Given the description of an element on the screen output the (x, y) to click on. 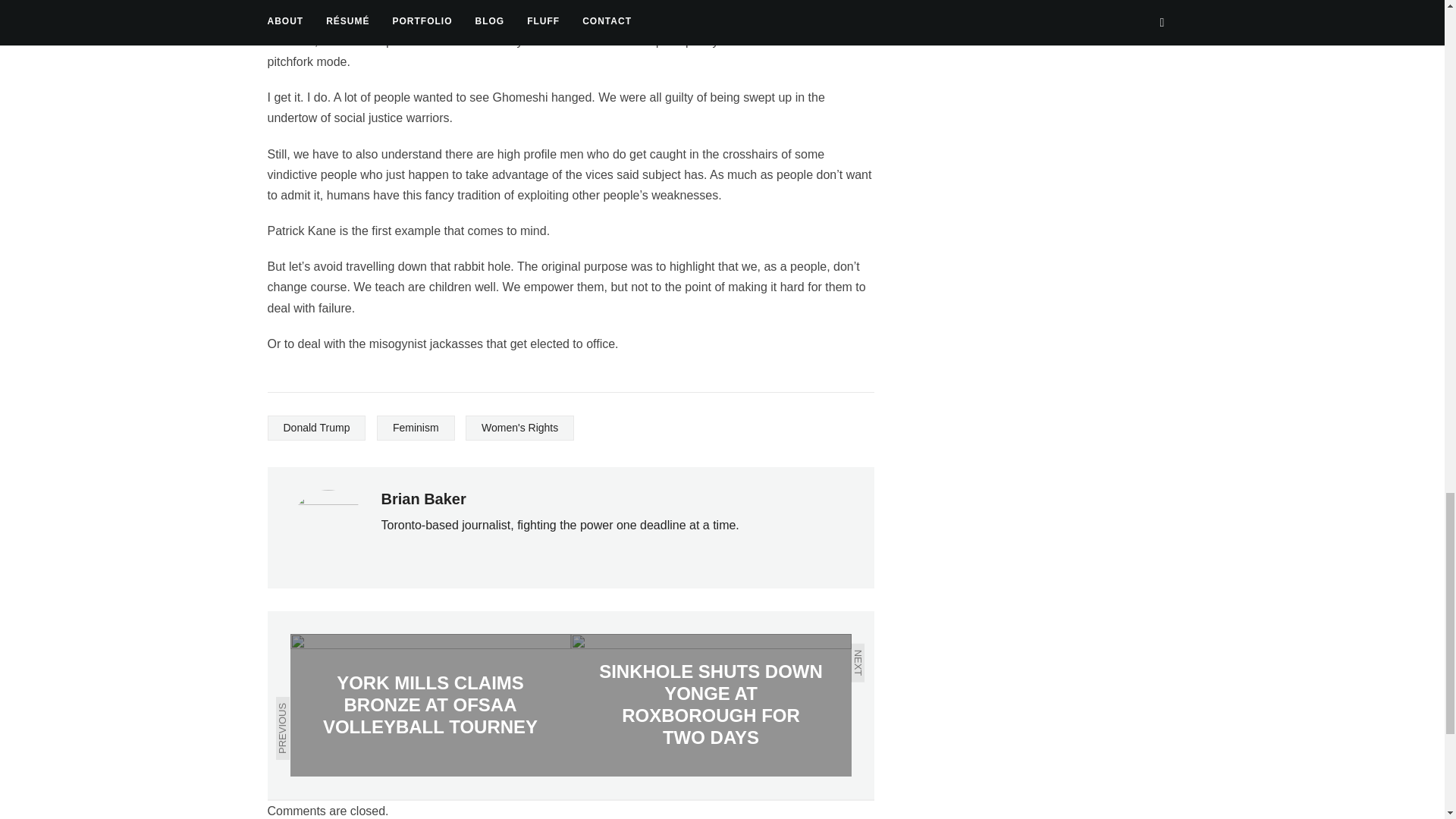
Sinkhole shuts down Yonge at Roxborough for two days (710, 704)
York Mills claims bronze at OFSAA volleyball tourney (429, 704)
Posts by Brian Baker (422, 498)
